Given the description of an element on the screen output the (x, y) to click on. 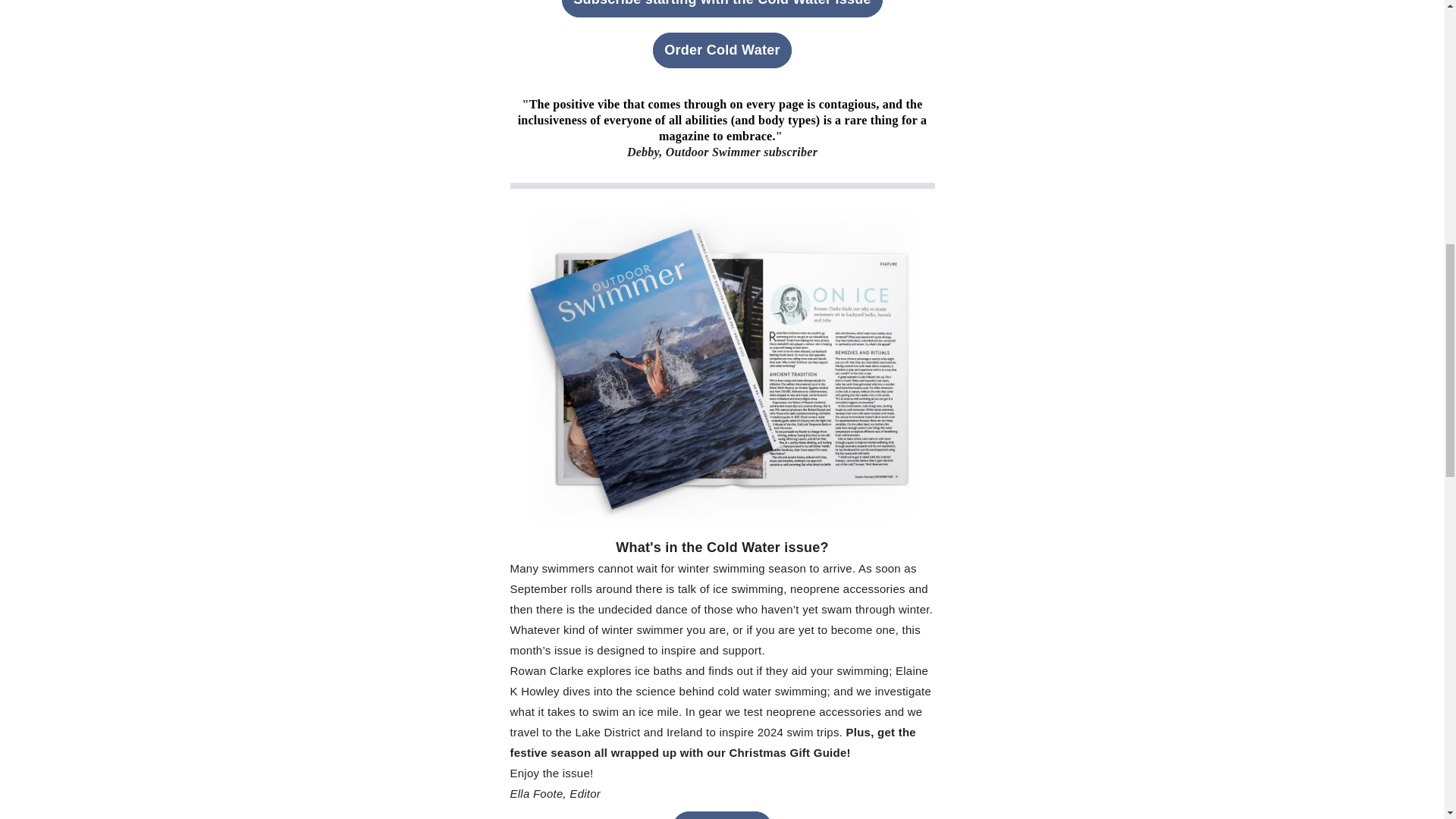
Order Cold Water (721, 49)
Order issue (722, 815)
Subscribe starting with the Cold Water issue (722, 8)
